Given the description of an element on the screen output the (x, y) to click on. 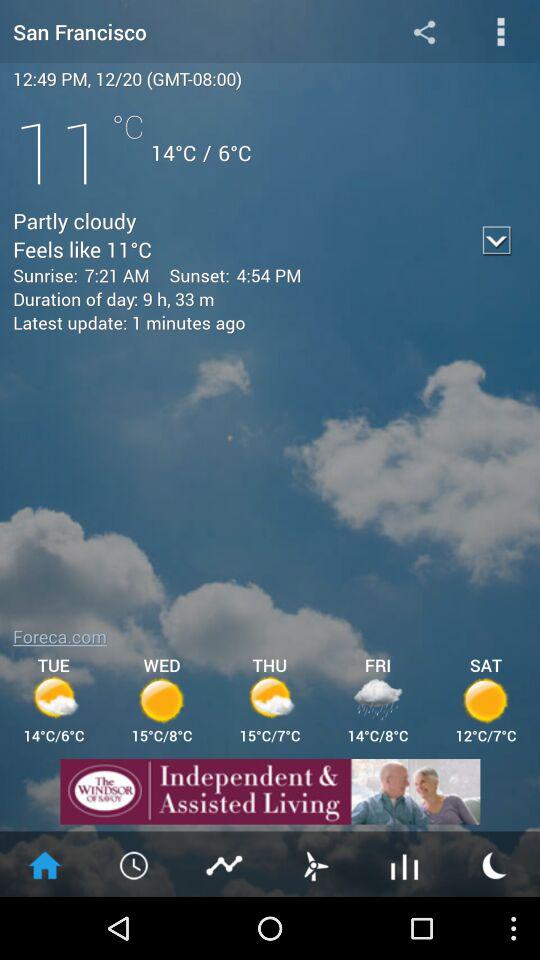
menu button (500, 31)
